Given the description of an element on the screen output the (x, y) to click on. 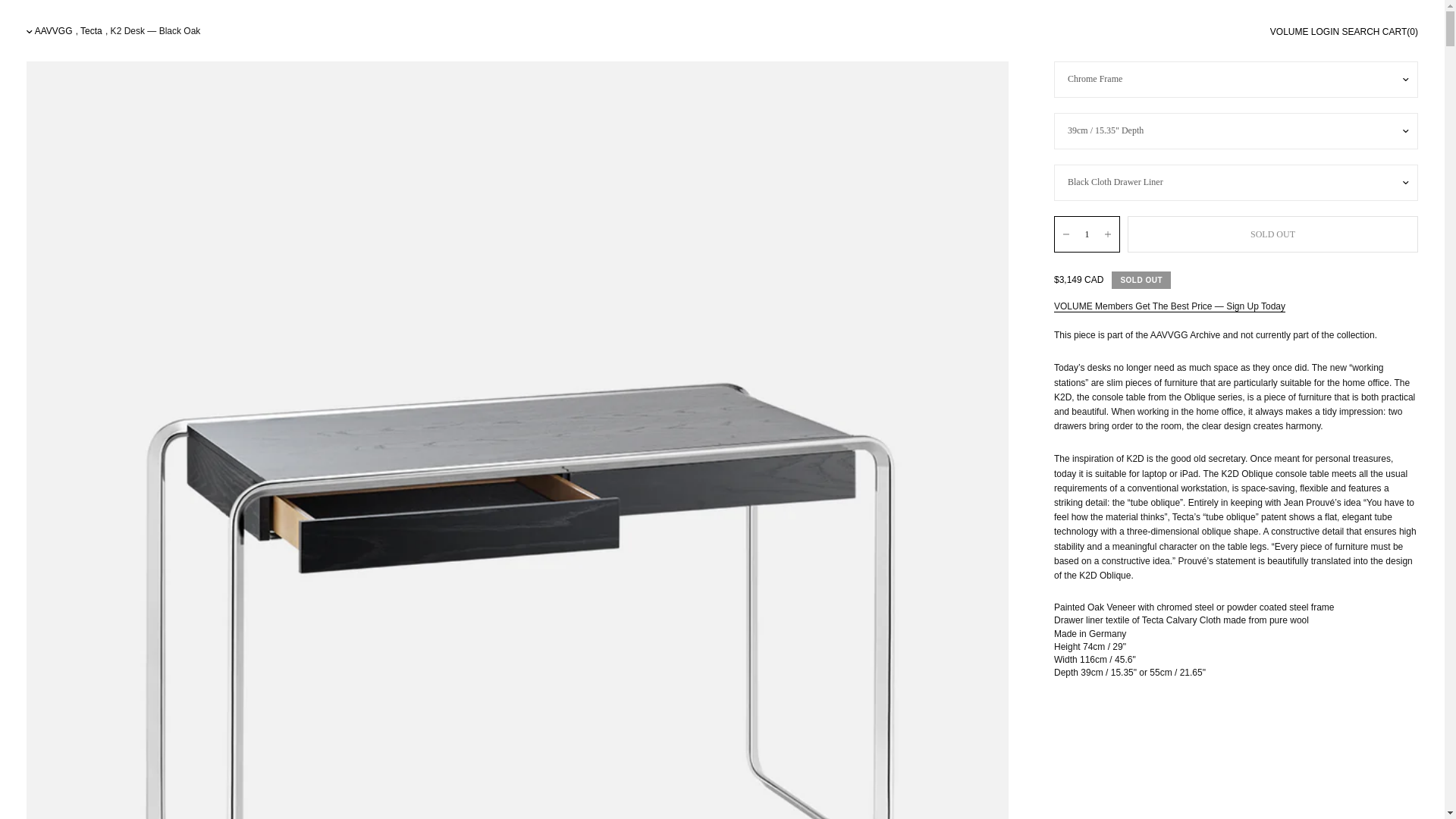
AAVVGG (53, 30)
